Given the description of an element on the screen output the (x, y) to click on. 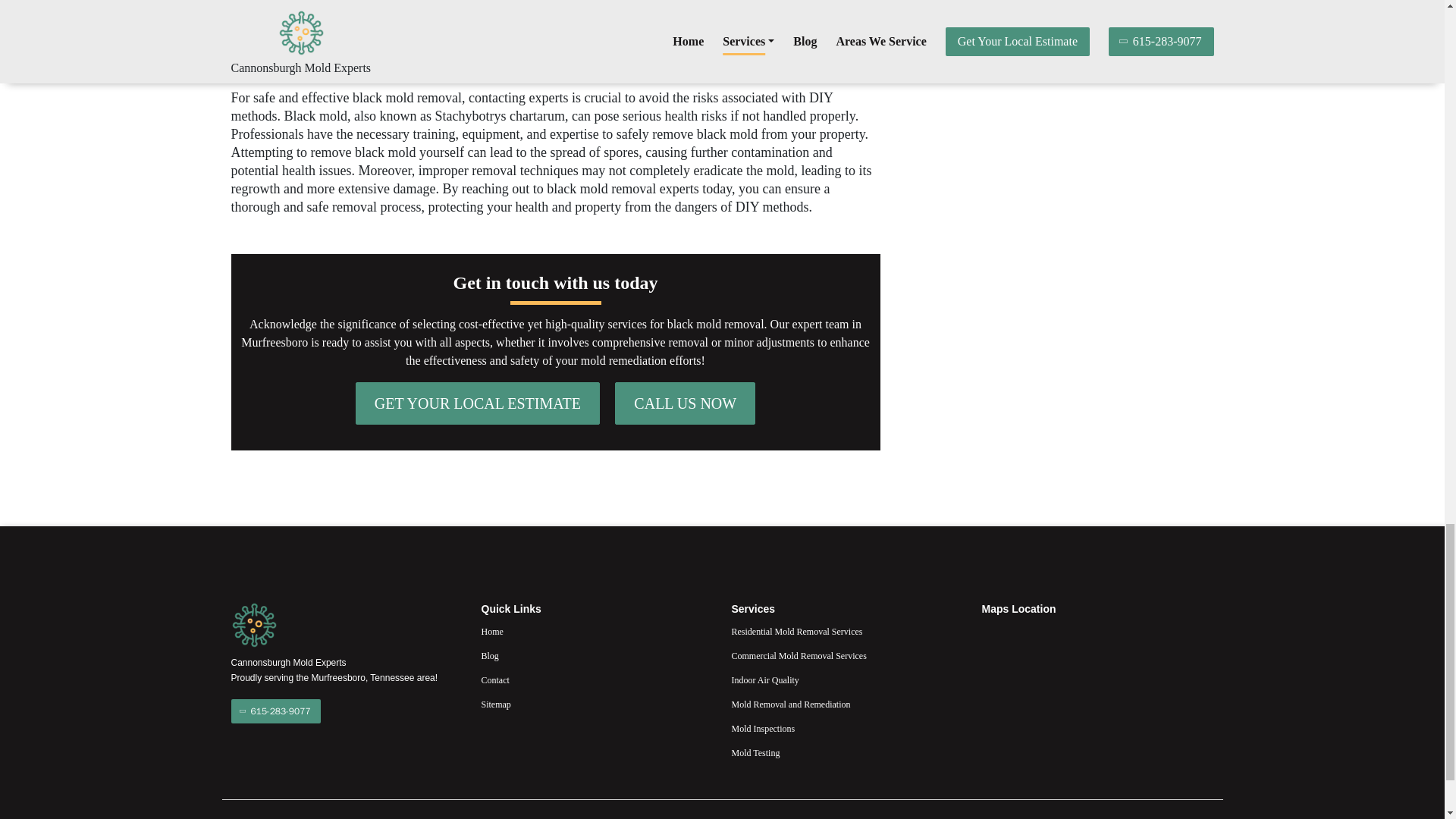
GET YOUR LOCAL ESTIMATE (477, 403)
CALL US NOW (684, 403)
